Given the description of an element on the screen output the (x, y) to click on. 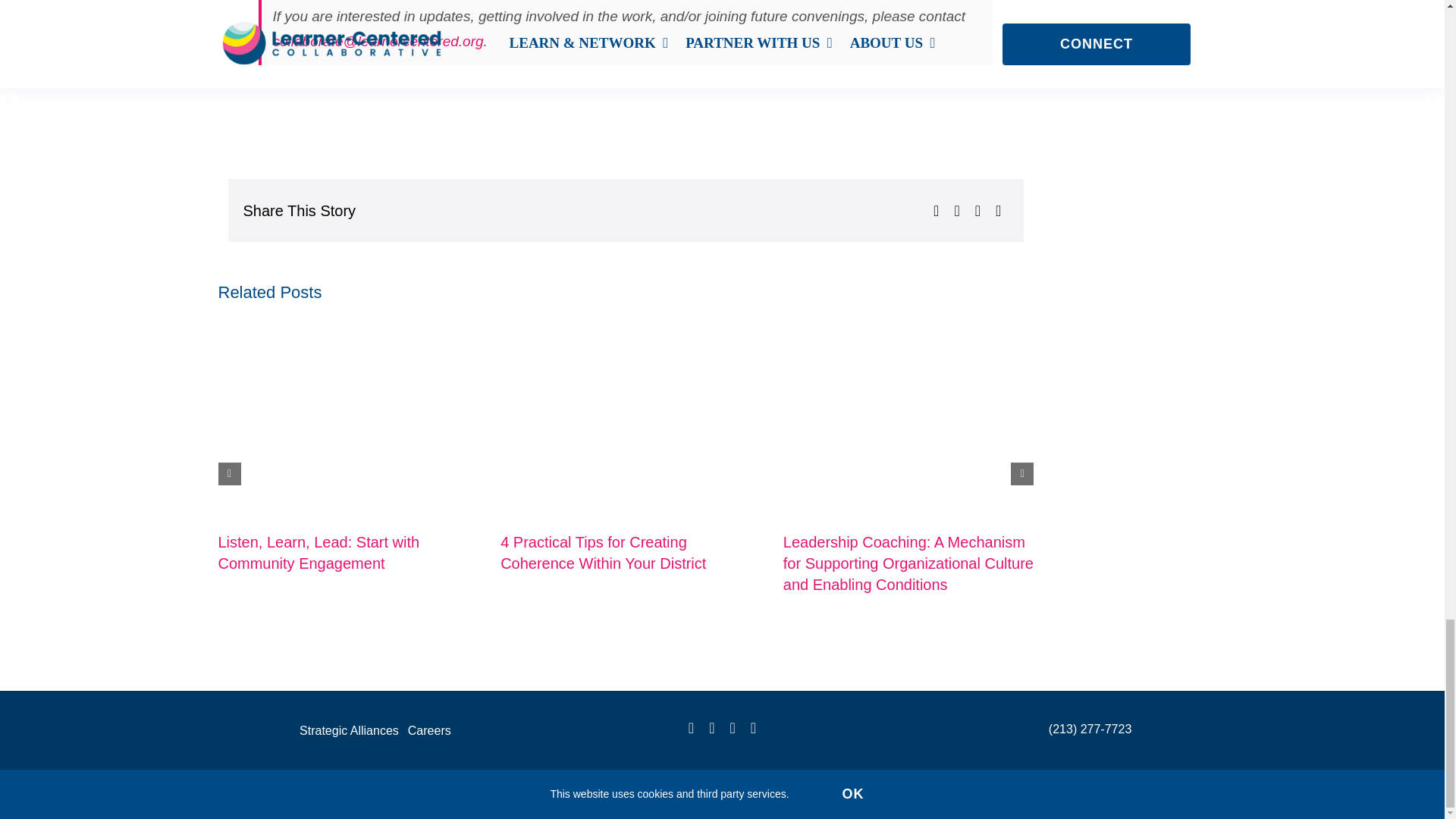
Listen, Learn, Lead: Start with Community Engagement (317, 552)
4 Practical Tips for Creating Coherence Within Your District (603, 552)
